Given the description of an element on the screen output the (x, y) to click on. 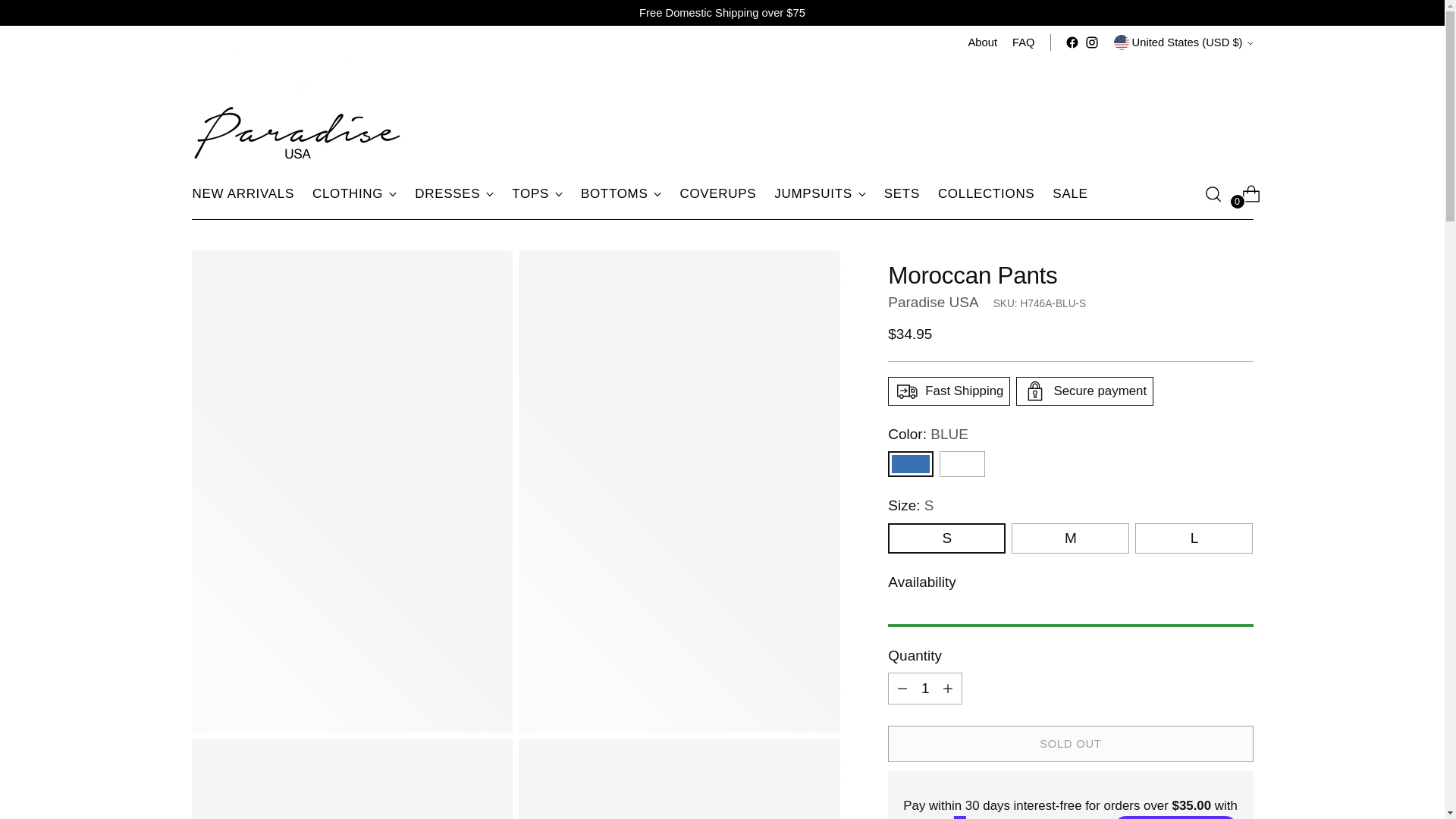
TOPS (537, 193)
CLOTHING (354, 193)
NEW ARRIVALS (243, 193)
Paradise Fashion USA on Facebook (1071, 42)
Paradise USA (933, 302)
1 (925, 688)
Paradise Fashion USA on Instagram (1091, 42)
DRESSES (453, 193)
